Given the description of an element on the screen output the (x, y) to click on. 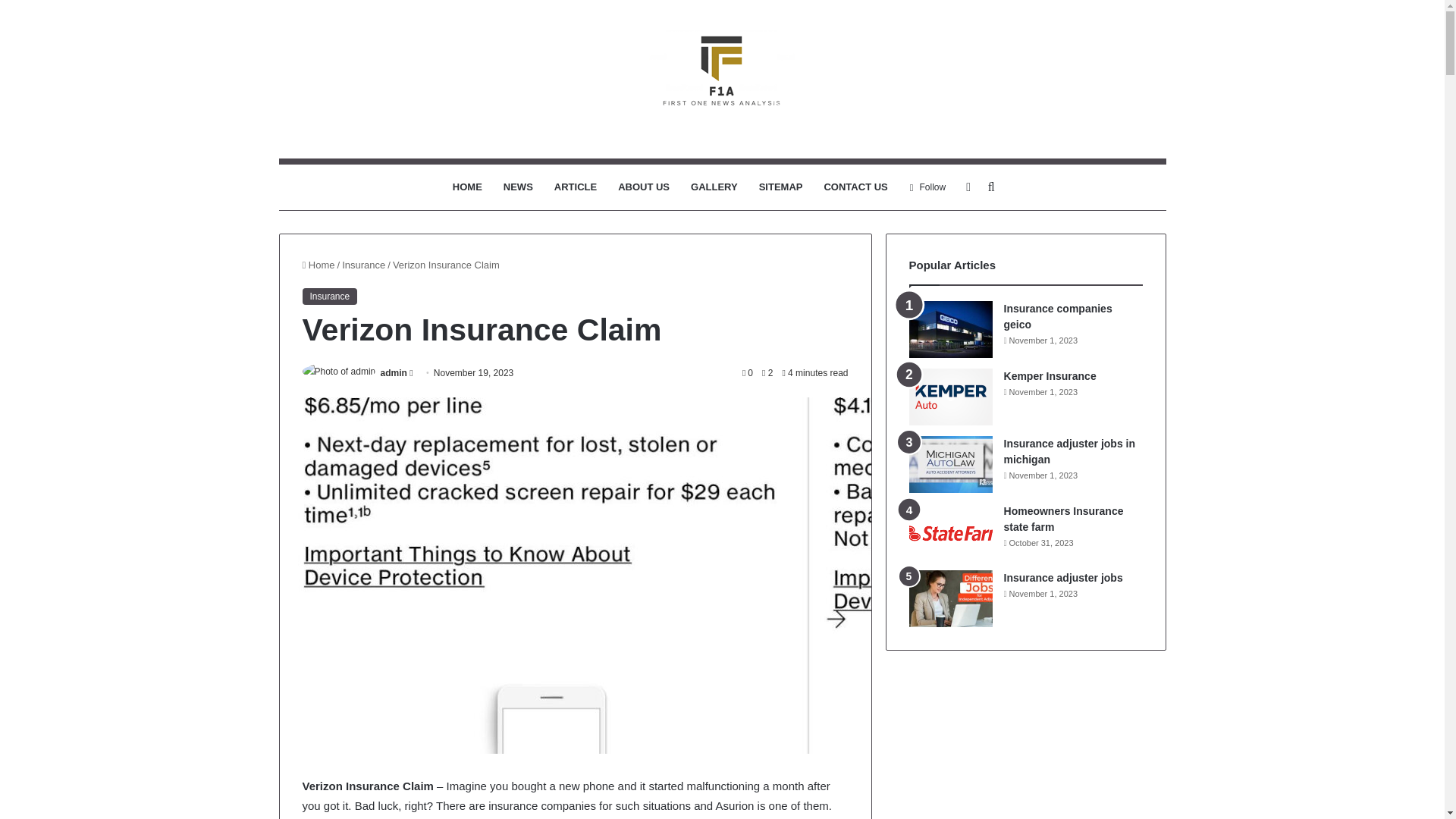
ABOUT US (643, 186)
ARTICLE (575, 186)
HOME (467, 186)
Home (317, 265)
Insurance (363, 265)
Follow (927, 186)
admin (393, 372)
SITEMAP (780, 186)
CONTACT US (855, 186)
Insurance (328, 296)
